Given the description of an element on the screen output the (x, y) to click on. 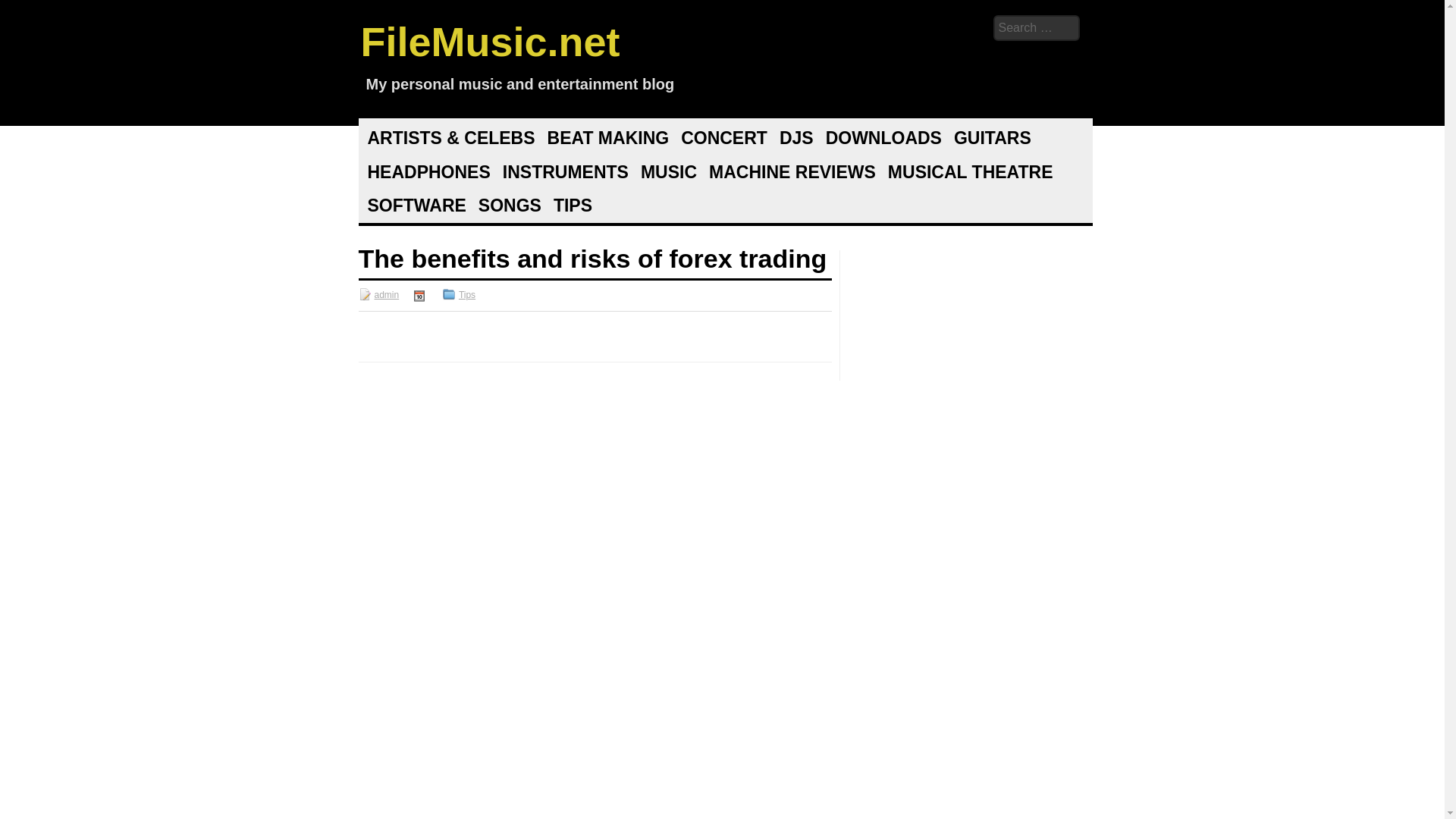
FileMusic.net (490, 41)
FileMusic.net (490, 41)
MUSIC (668, 171)
Search for: (1036, 27)
BEAT MAKING (608, 138)
CONCERT (724, 138)
DOWNLOADS (883, 138)
Search (22, 11)
Skip to content (446, 138)
MACHINE REVIEWS (792, 171)
